Given the description of an element on the screen output the (x, y) to click on. 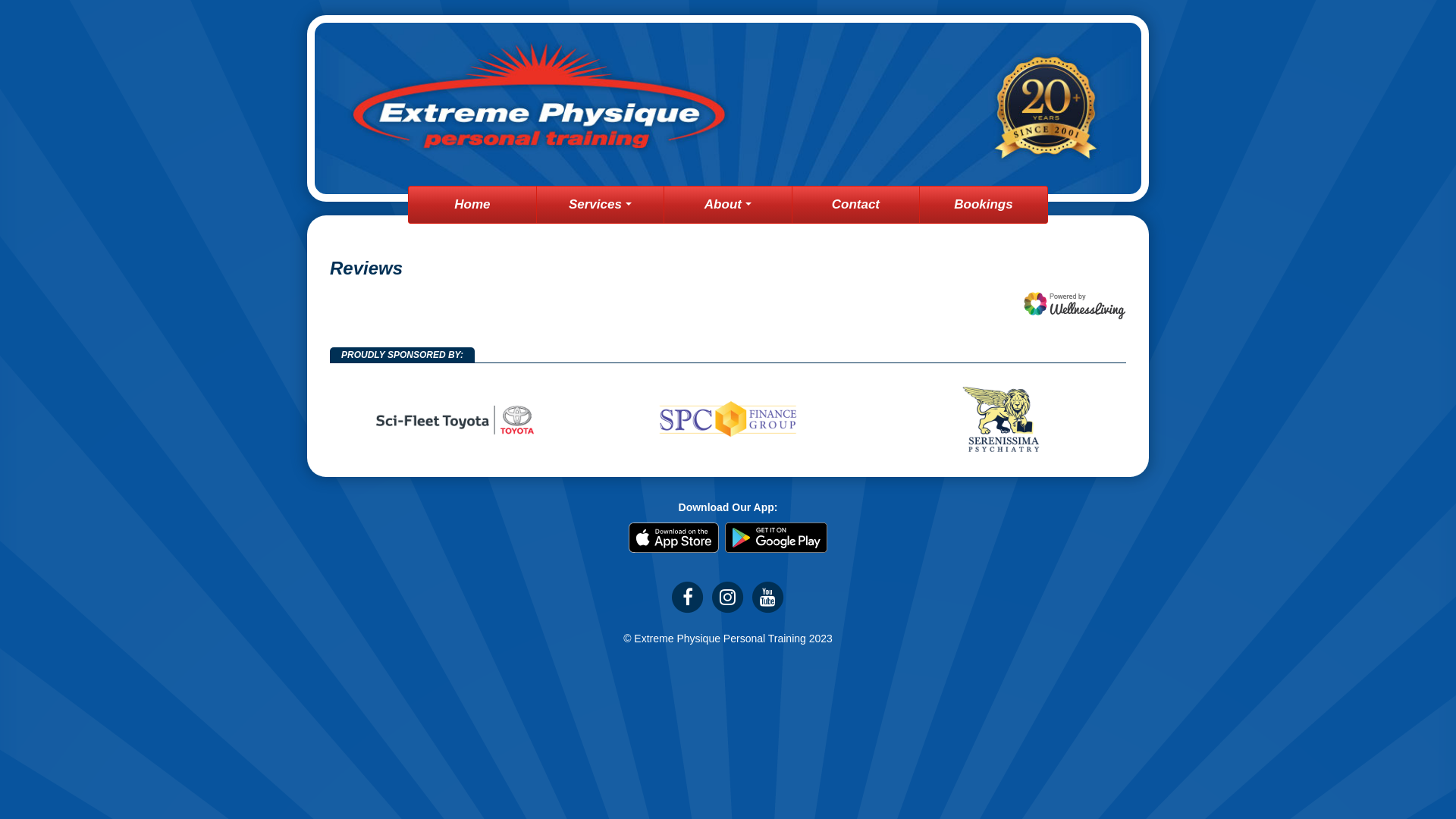
Services Element type: text (599, 204)
About Element type: text (727, 204)
Extreme Physique Element type: hover (727, 108)
  Element type: text (676, 542)
Home Element type: text (471, 204)
Contact Element type: text (855, 204)
Bookings Element type: text (983, 204)
